Given the description of an element on the screen output the (x, y) to click on. 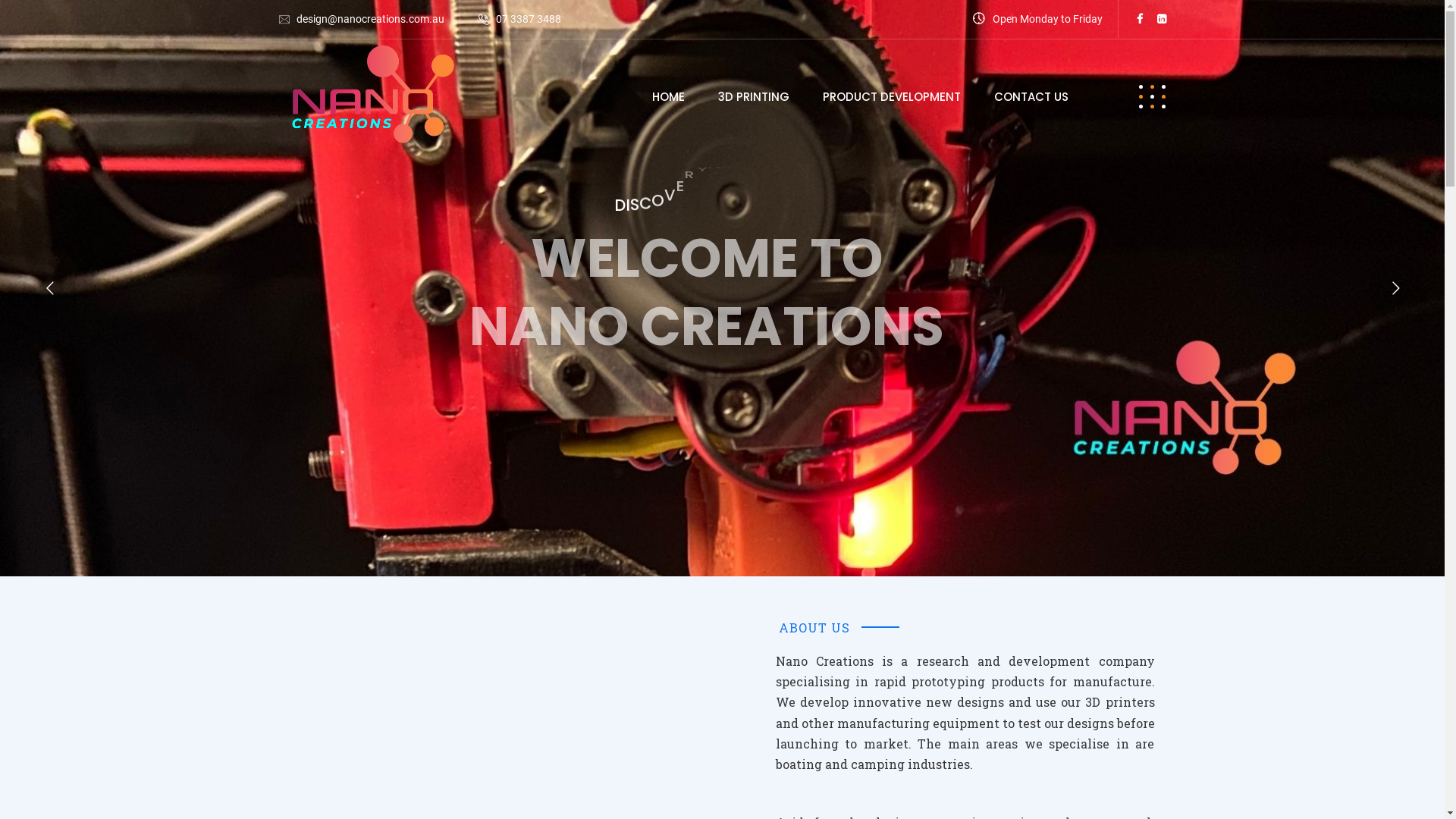
PRODUCT DEVELOPMENT Element type: text (890, 96)
3D PRINTING Element type: text (752, 96)
CONTACT US Element type: text (1030, 96)
design@nanocreations.com.au Element type: text (369, 18)
07 3387 3488 Element type: text (528, 18)
HOME Element type: text (668, 96)
